Given the description of an element on the screen output the (x, y) to click on. 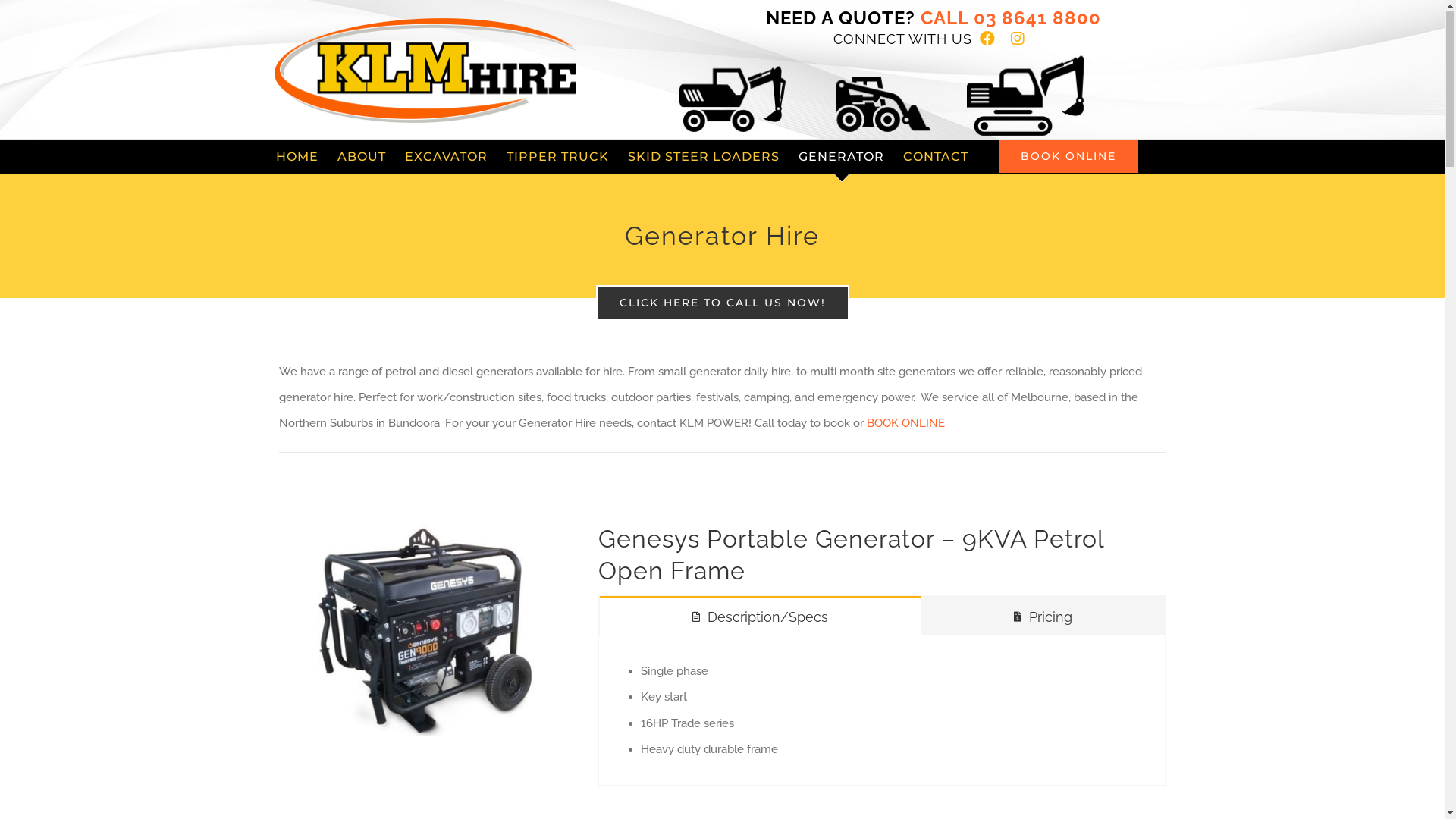
ABOUT Element type: text (361, 157)
CLICK HERE TO CALL US NOW! Element type: text (722, 303)
EXCAVATOR Element type: text (445, 157)
CONTACT Element type: text (935, 157)
BOOK ONLINE Element type: text (905, 423)
SKID STEER LOADERS Element type: text (703, 157)
HOME Element type: text (297, 157)
Description/Specs Element type: text (759, 616)
TIPPER TRUCK Element type: text (557, 157)
Pricing Element type: text (1042, 616)
CALL 03 8641 8800 Element type: text (1007, 18)
GENERATOR Element type: text (841, 157)
BOOK ONLINE Element type: text (1068, 157)
Gen 9000 Element type: hover (420, 630)
